Given the description of an element on the screen output the (x, y) to click on. 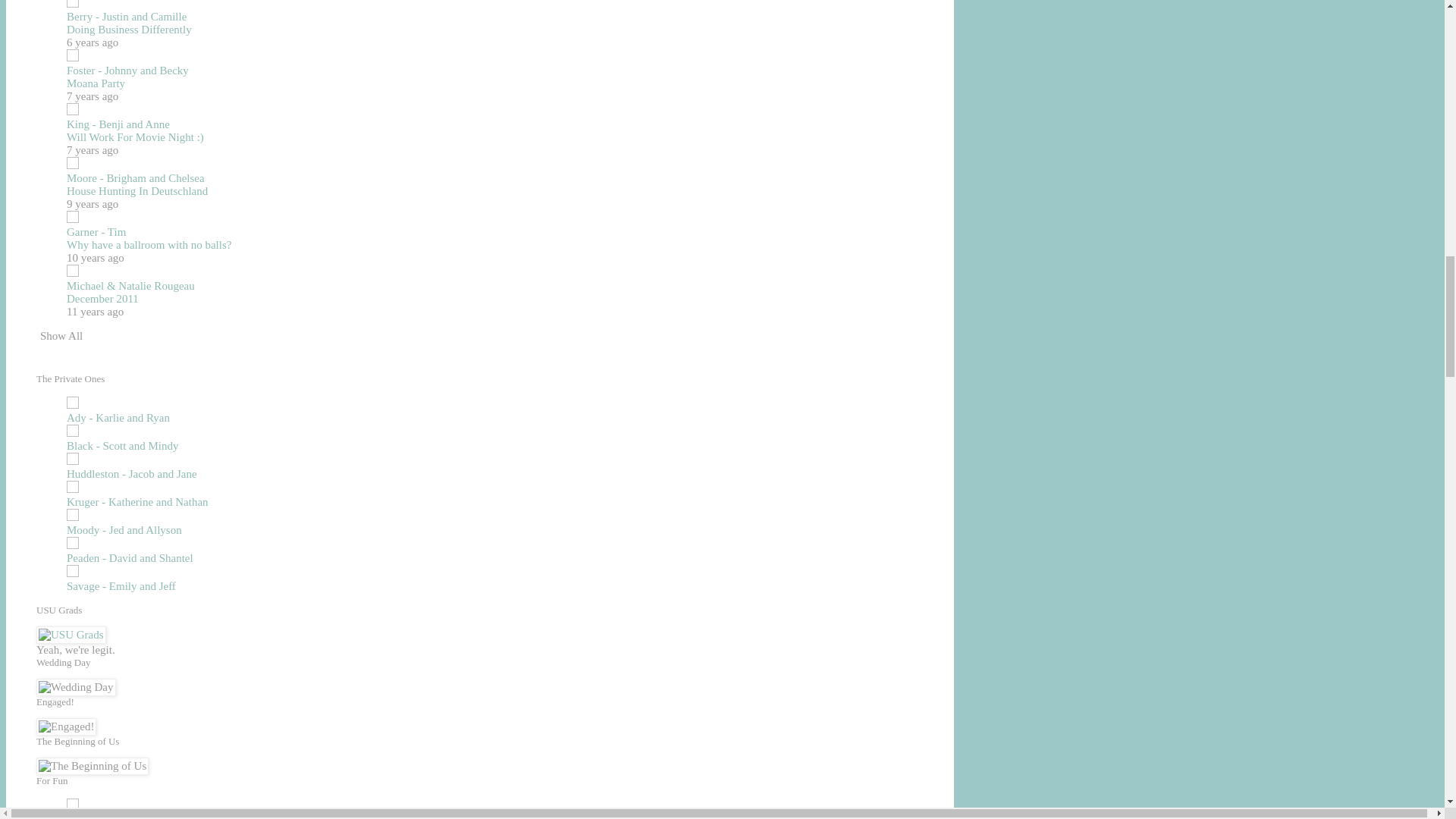
Garner - Tim (95, 232)
Why have a ballroom with no balls? (148, 244)
Moana Party (95, 82)
King - Benji and Anne (118, 123)
Doing Business Differently (129, 29)
Foster - Johnny and Becky (127, 70)
Berry - Justin and Camille (126, 16)
House Hunting In Deutschland (137, 191)
Moore - Brigham and Chelsea (135, 177)
